Given the description of an element on the screen output the (x, y) to click on. 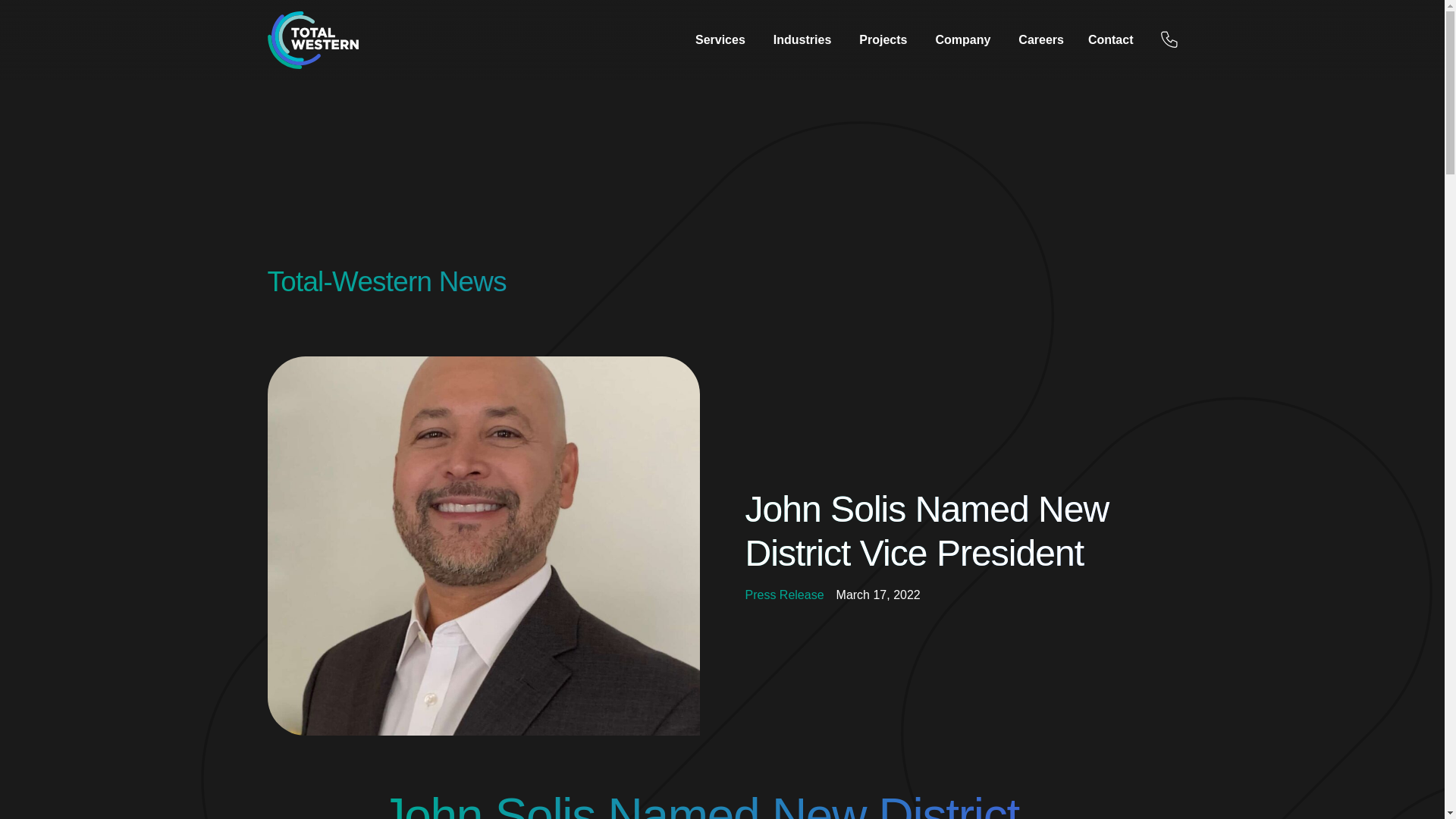
Careers (1040, 40)
Projects (883, 40)
Services (720, 40)
Industries (802, 40)
Contact (1110, 40)
